Given the description of an element on the screen output the (x, y) to click on. 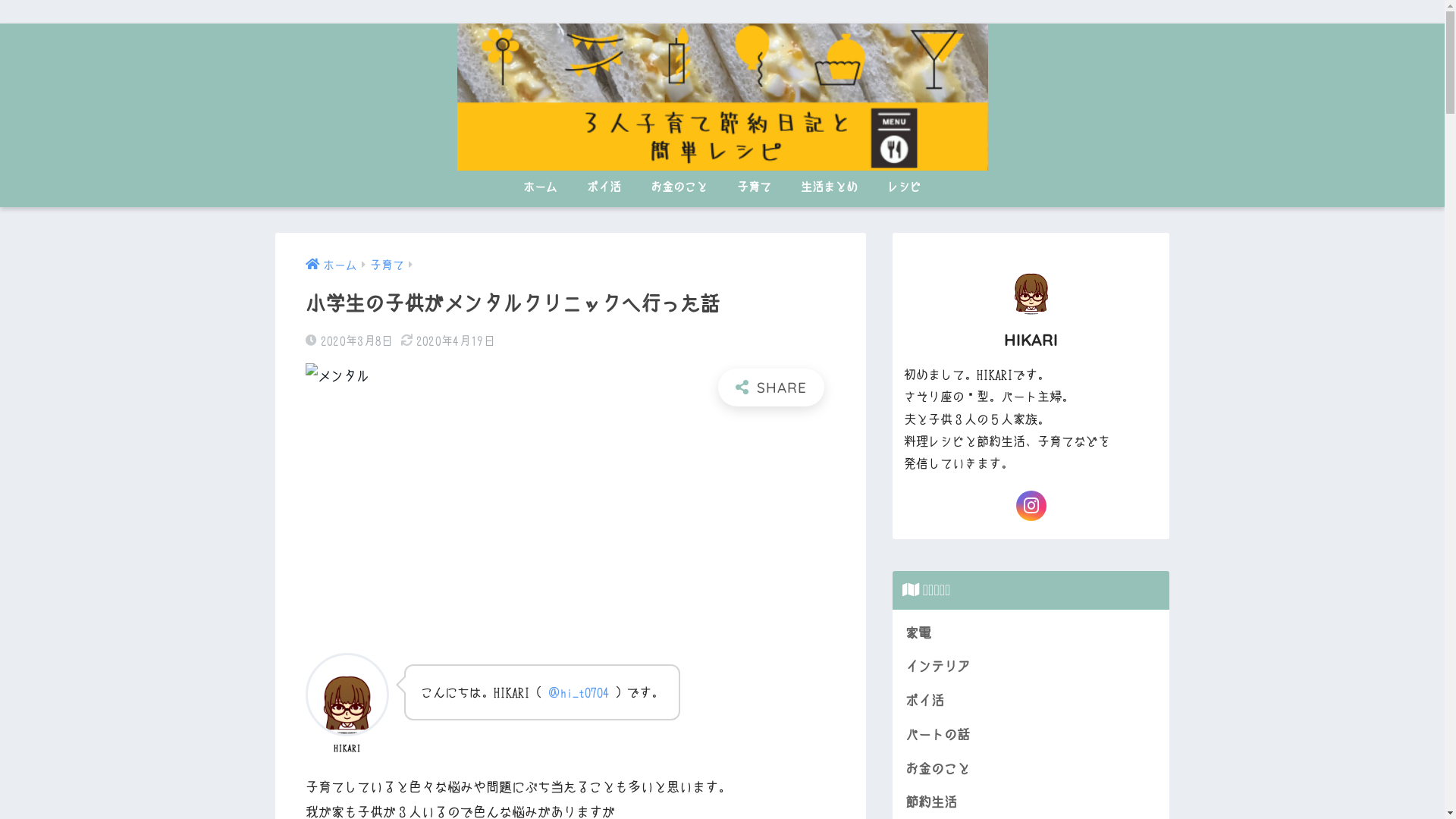
Advertisement Element type: hover (569, 527)
on Element type: text (4, 4)
